Given the description of an element on the screen output the (x, y) to click on. 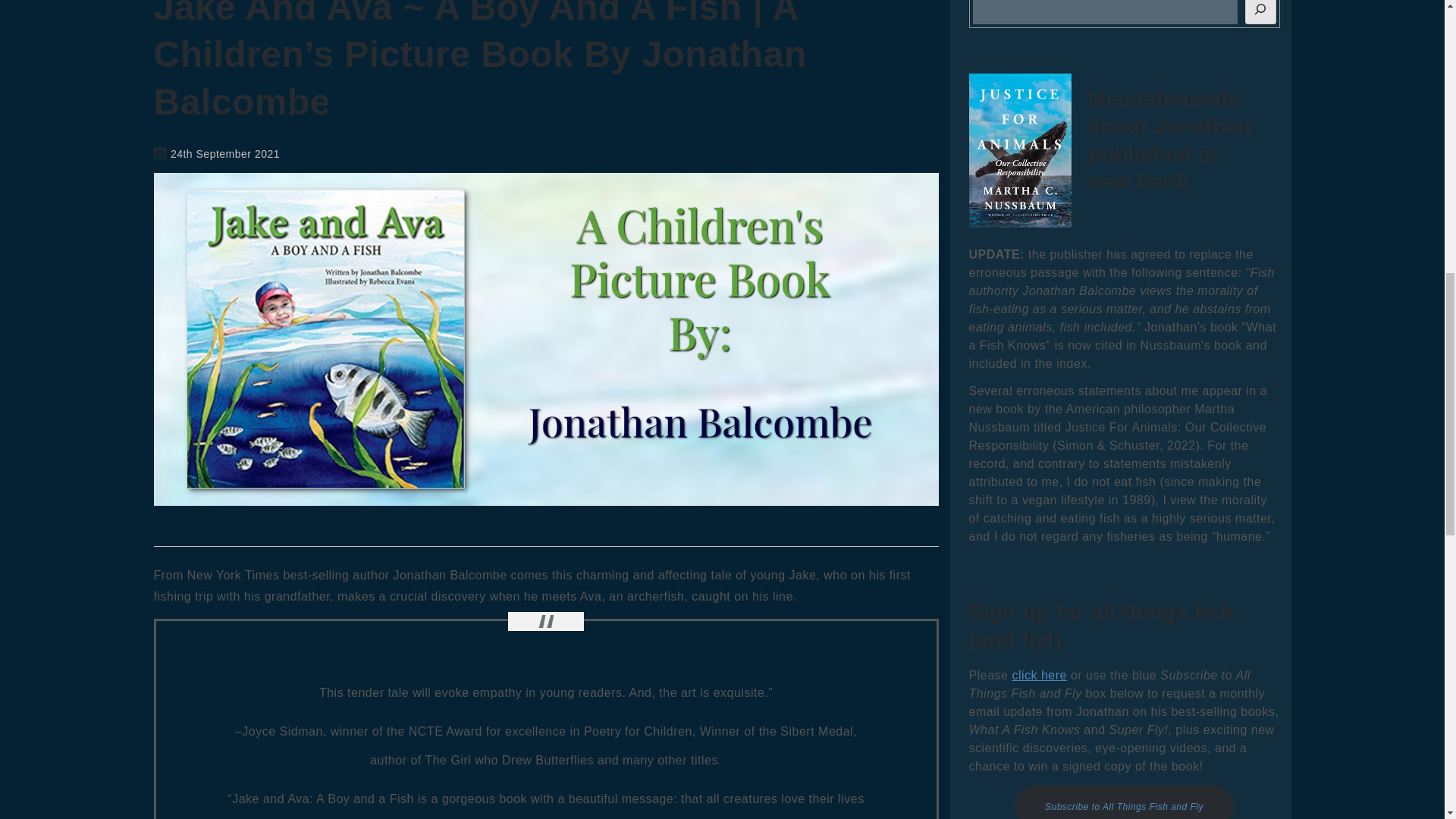
Subscribe to All Things Fish and Fly (1123, 802)
24th September 2021 (224, 153)
click here (1039, 675)
